Given the description of an element on the screen output the (x, y) to click on. 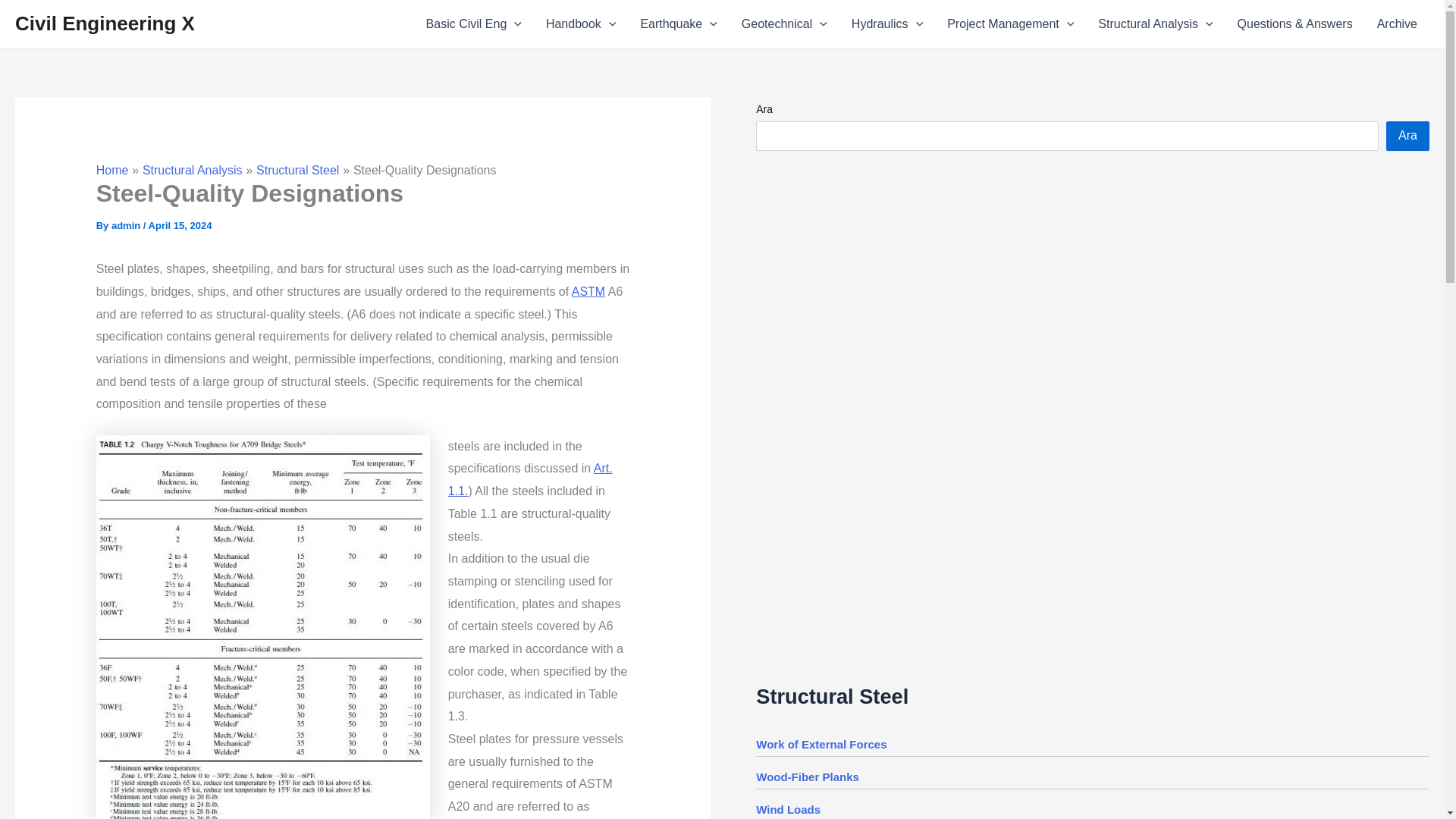
Wood-Fiber Planks (807, 776)
Handbook (581, 23)
Civil Engineering X (104, 23)
Work of External Forces (820, 744)
ASTM (588, 291)
View all posts by admin (127, 225)
Basic Civil Eng (473, 23)
Wind Loads (788, 809)
